Given the description of an element on the screen output the (x, y) to click on. 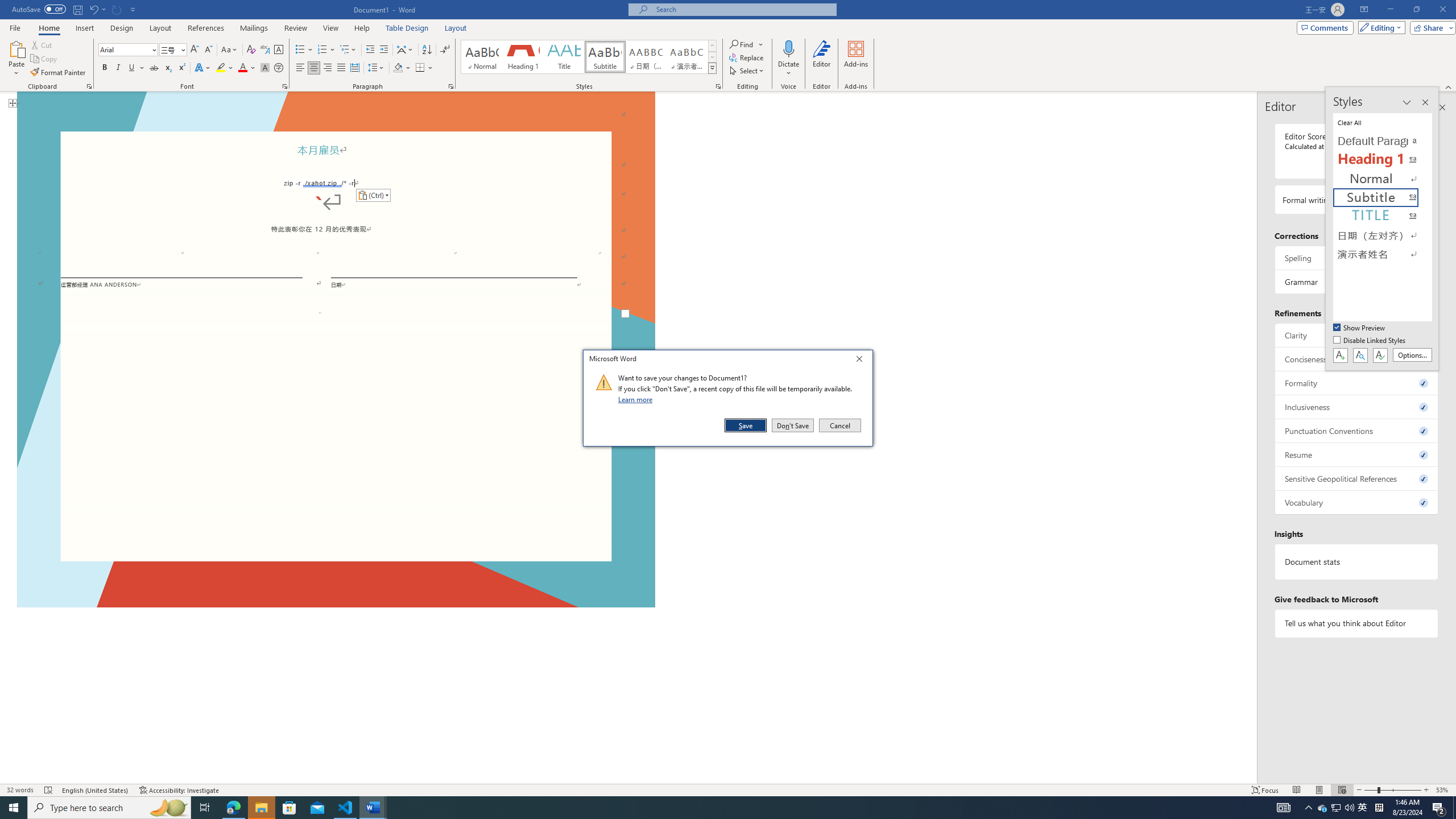
Disable Linked Styles (1370, 340)
Tray Input Indicator - Chinese (Simplified, China) (1378, 807)
Can't Repeat (117, 9)
